Given the description of an element on the screen output the (x, y) to click on. 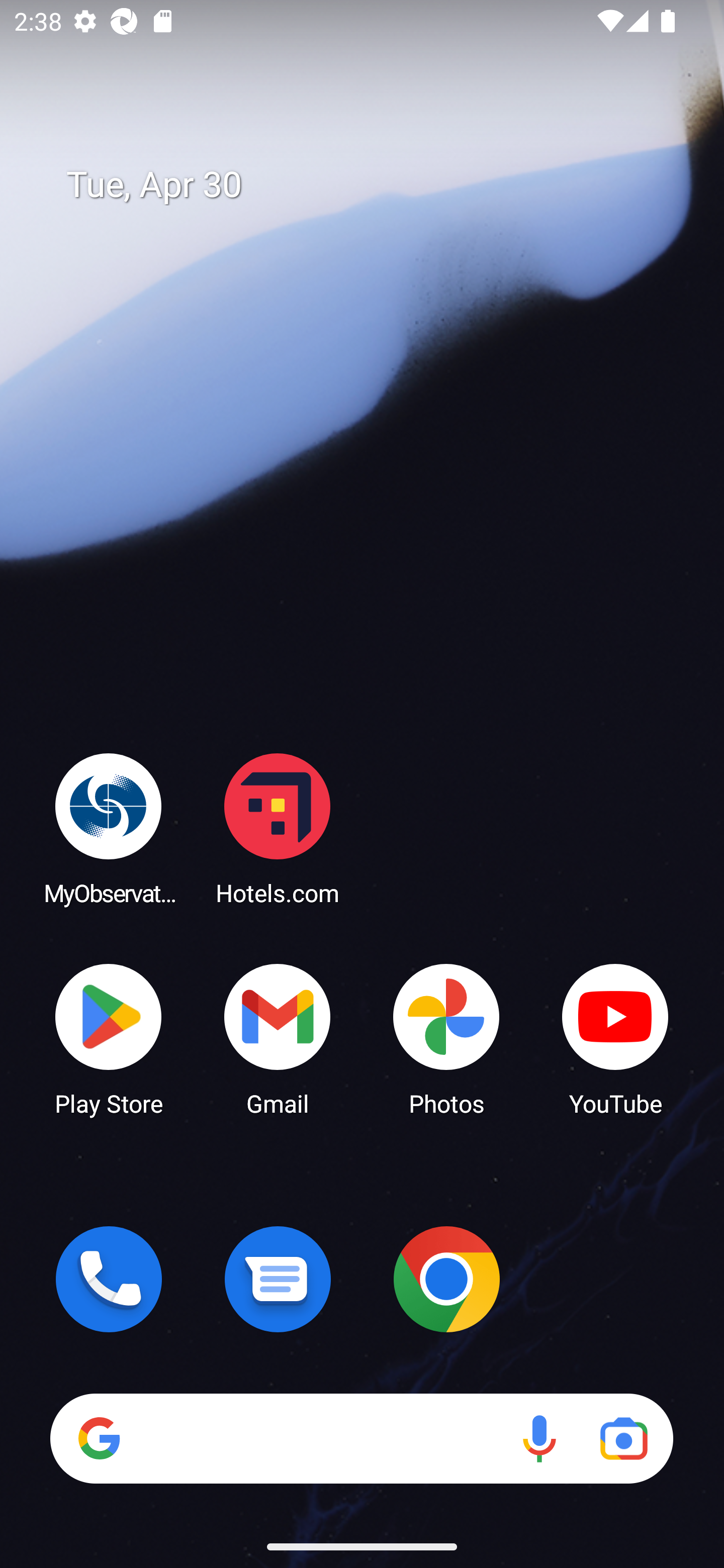
Tue, Apr 30 (375, 184)
MyObservatory (108, 828)
Hotels.com (277, 828)
Play Store (108, 1038)
Gmail (277, 1038)
Photos (445, 1038)
YouTube (615, 1038)
Phone (108, 1279)
Messages (277, 1279)
Chrome (446, 1279)
Voice search (539, 1438)
Google Lens (623, 1438)
